Given the description of an element on the screen output the (x, y) to click on. 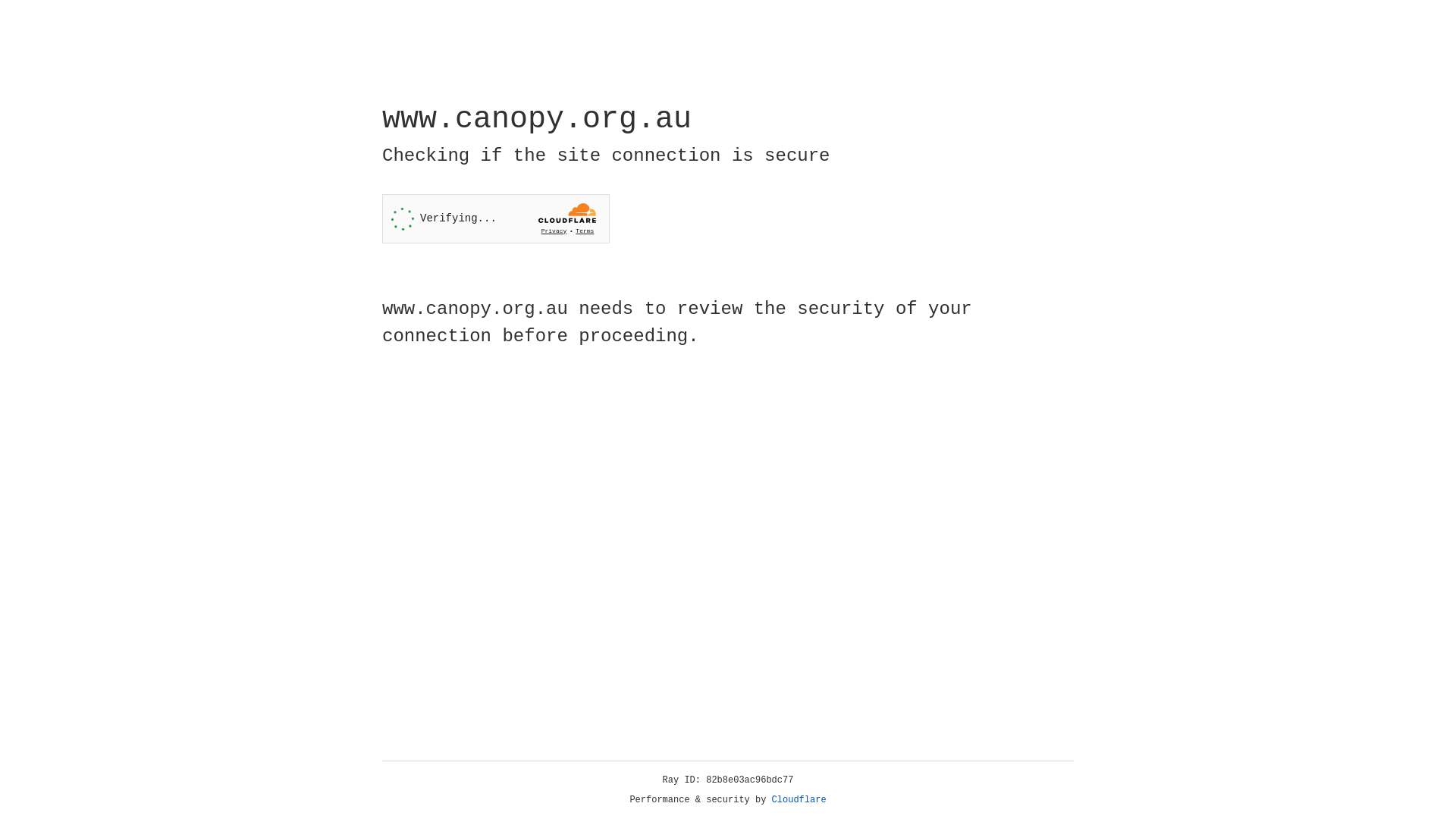
Cloudflare Element type: text (798, 799)
Widget containing a Cloudflare security challenge Element type: hover (495, 218)
